Given the description of an element on the screen output the (x, y) to click on. 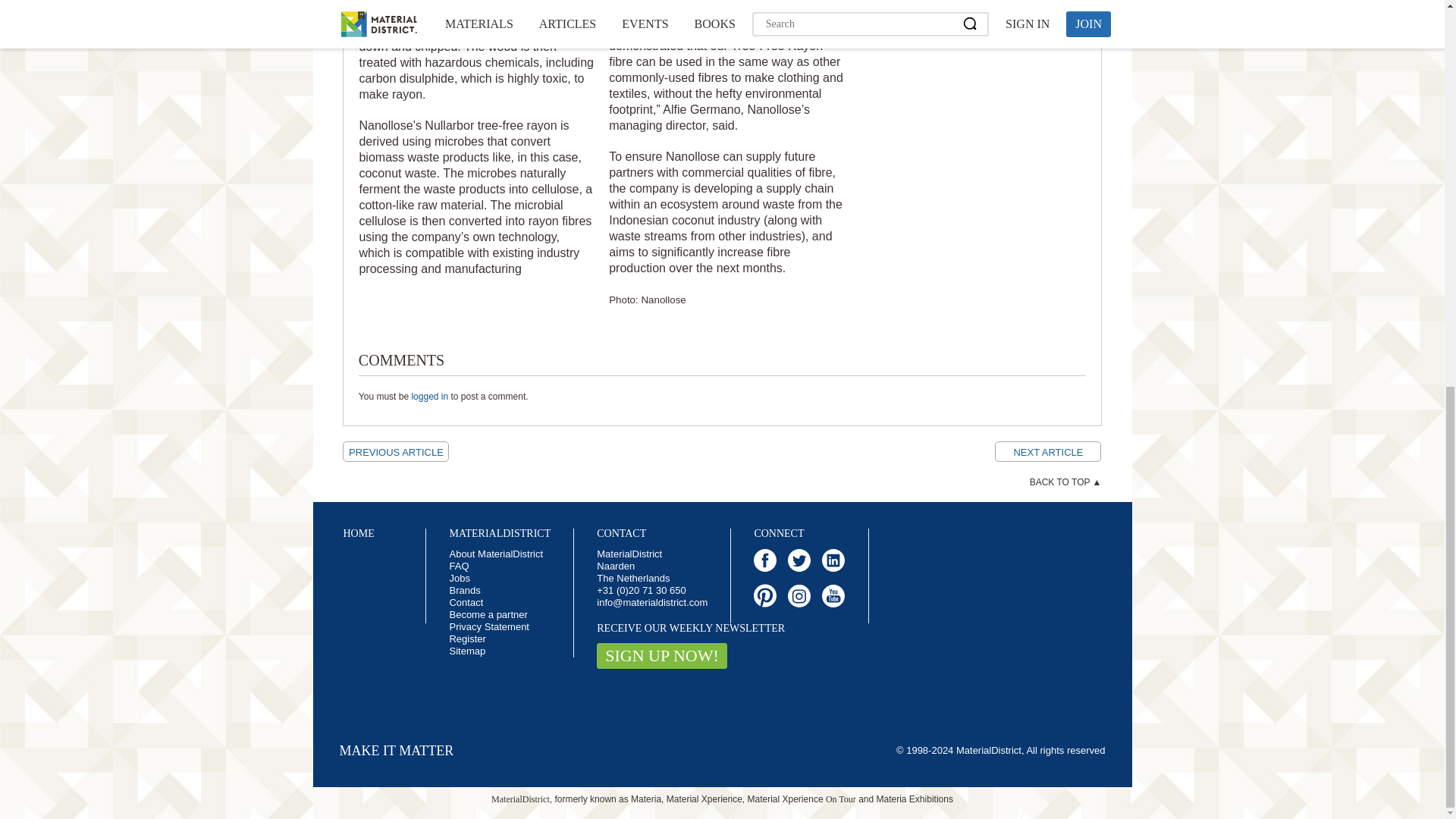
Privacy Statement (488, 626)
Brands (464, 590)
Sustainable bikes made of recycled plastic, bamboo and wood (395, 451)
Home (358, 532)
PREVIOUS ARTICLE (395, 451)
Contact (465, 602)
3rd party ad content (967, 18)
Sitemap (466, 650)
Register (466, 638)
logged in (429, 396)
FAQ (458, 565)
NEXT ARTICLE (1047, 451)
Become a partner (487, 614)
Jobs (458, 577)
About MaterialDistrict (495, 553)
